Given the description of an element on the screen output the (x, y) to click on. 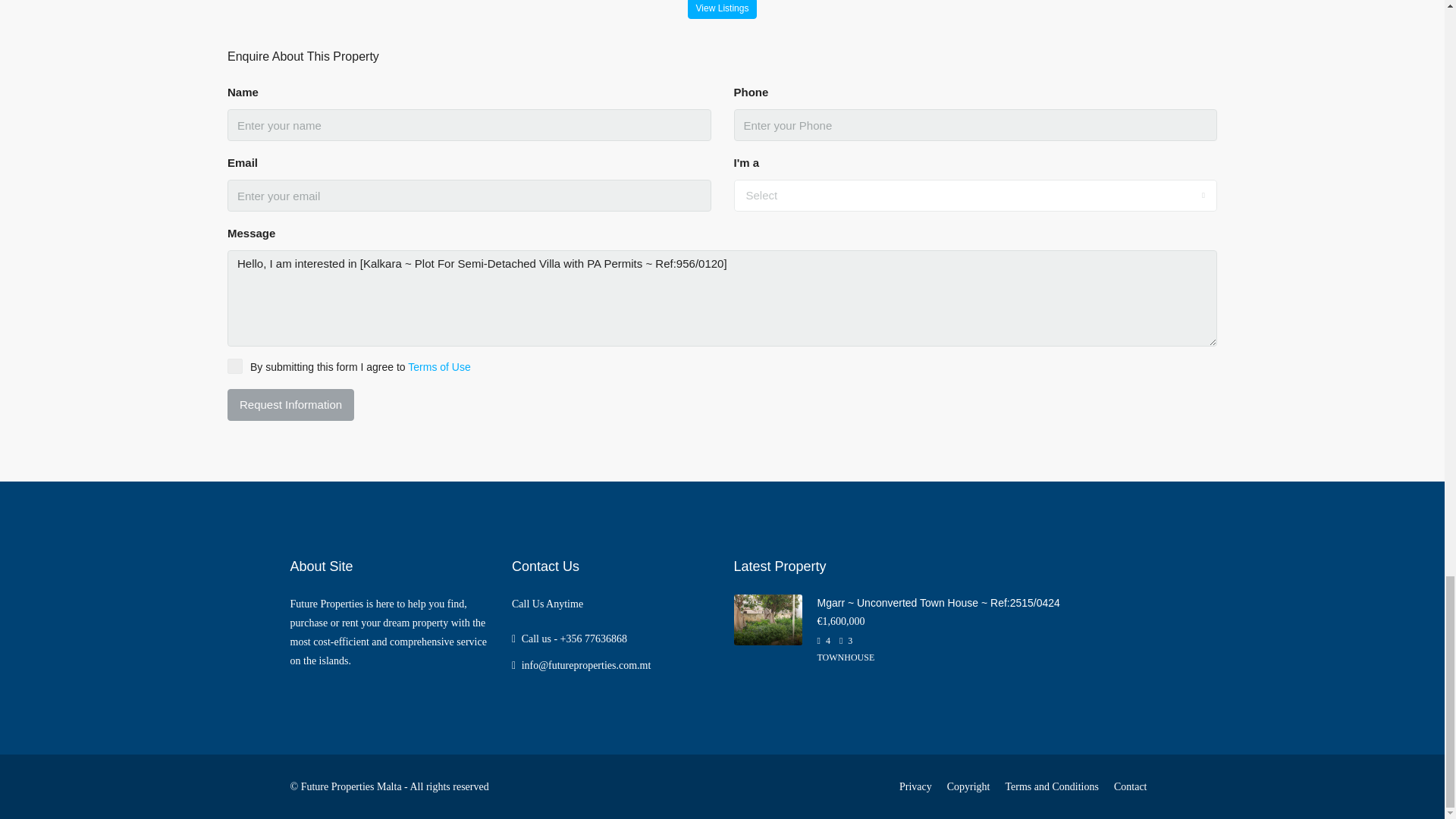
Select (975, 195)
